Given the description of an element on the screen output the (x, y) to click on. 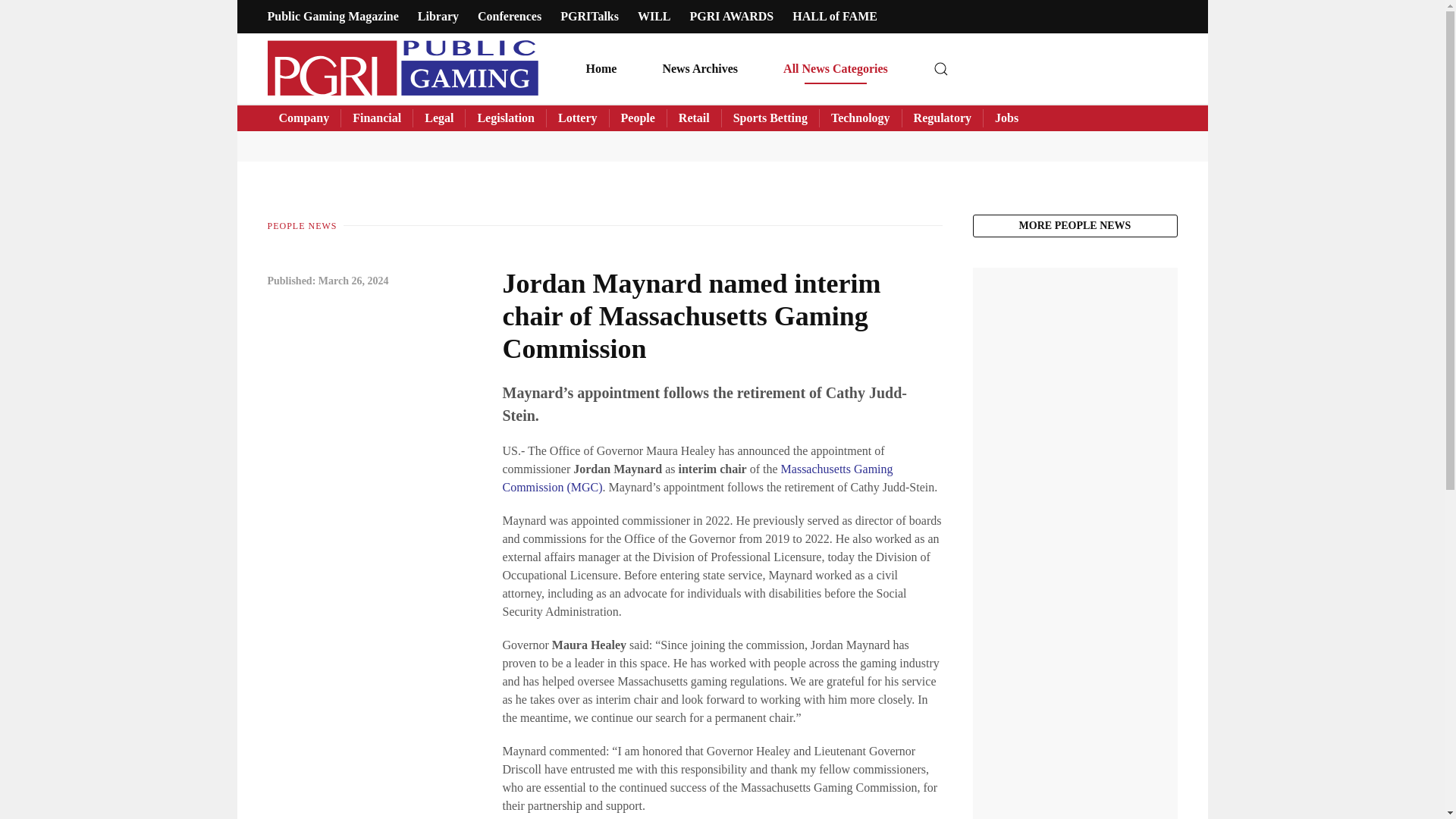
PGRITalks (589, 16)
Library (437, 16)
WILL (654, 16)
Conferences (509, 16)
HALL of FAME (834, 16)
Browse all People news (1074, 225)
All News Categories (835, 67)
PGRI AWARDS (732, 16)
News Archives (700, 67)
Public Gaming Magazine (331, 16)
